Given the description of an element on the screen output the (x, y) to click on. 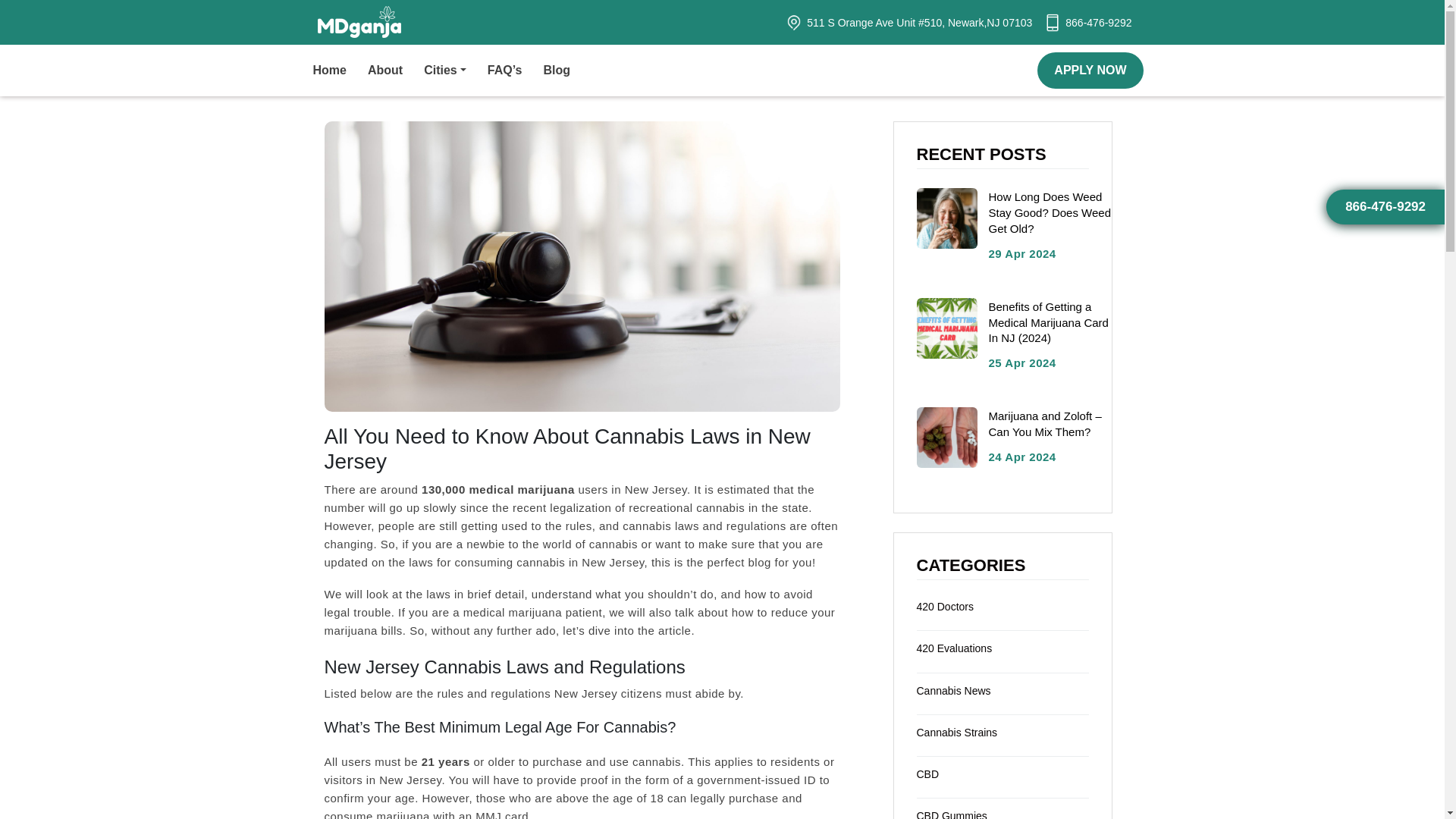
420 Doctors (943, 606)
Home (339, 70)
APPLY NOW (1089, 70)
Cannabis News (952, 690)
About (395, 70)
Cities (455, 70)
866-476-9292 (1098, 22)
420 Evaluations (953, 648)
How Long Does Weed Stay Good? Does Weed Get Old? (1049, 212)
Blog (567, 70)
